Given the description of an element on the screen output the (x, y) to click on. 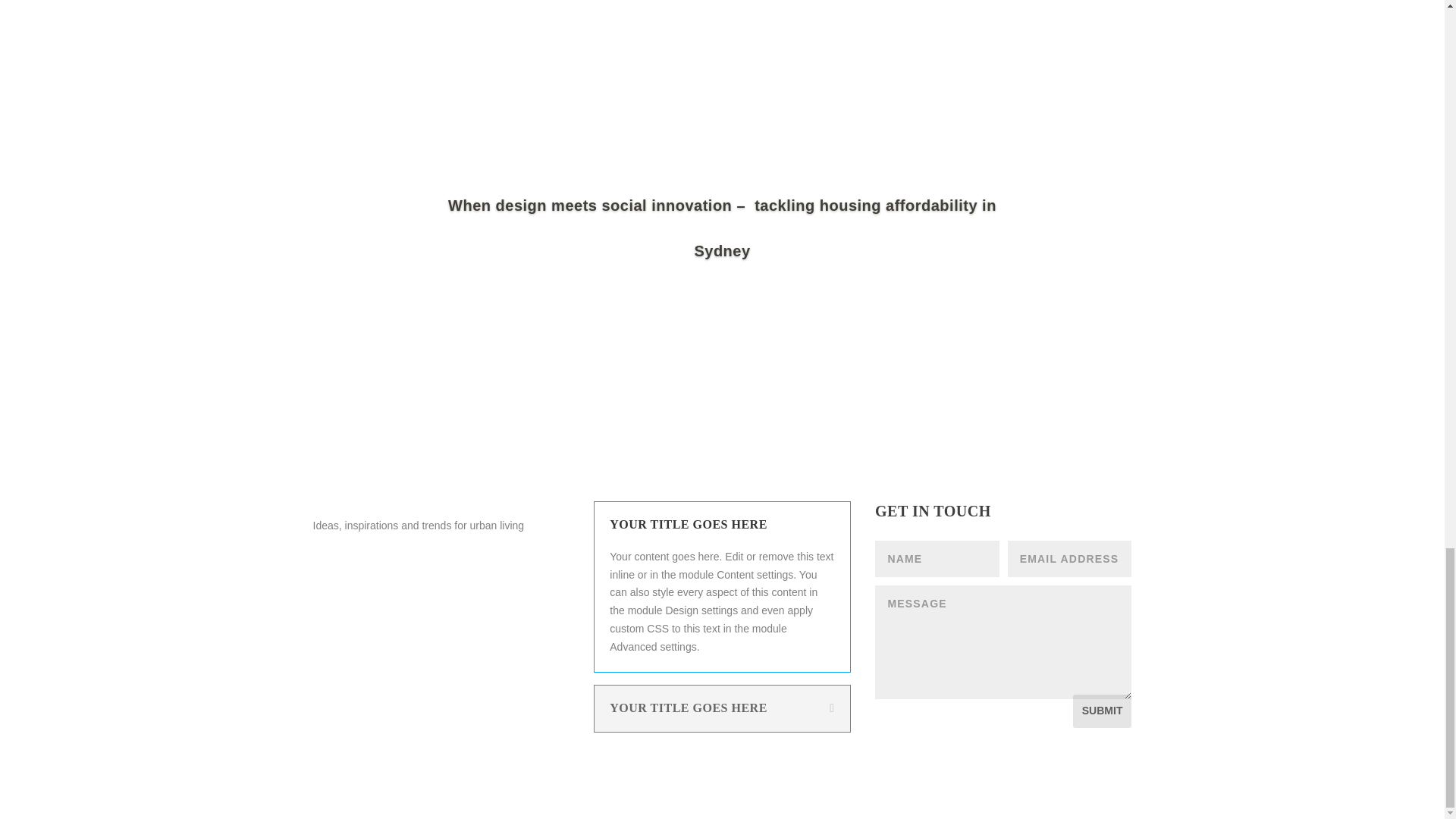
Follow on X (354, 559)
Follow on Facebook (324, 559)
